Given the description of an element on the screen output the (x, y) to click on. 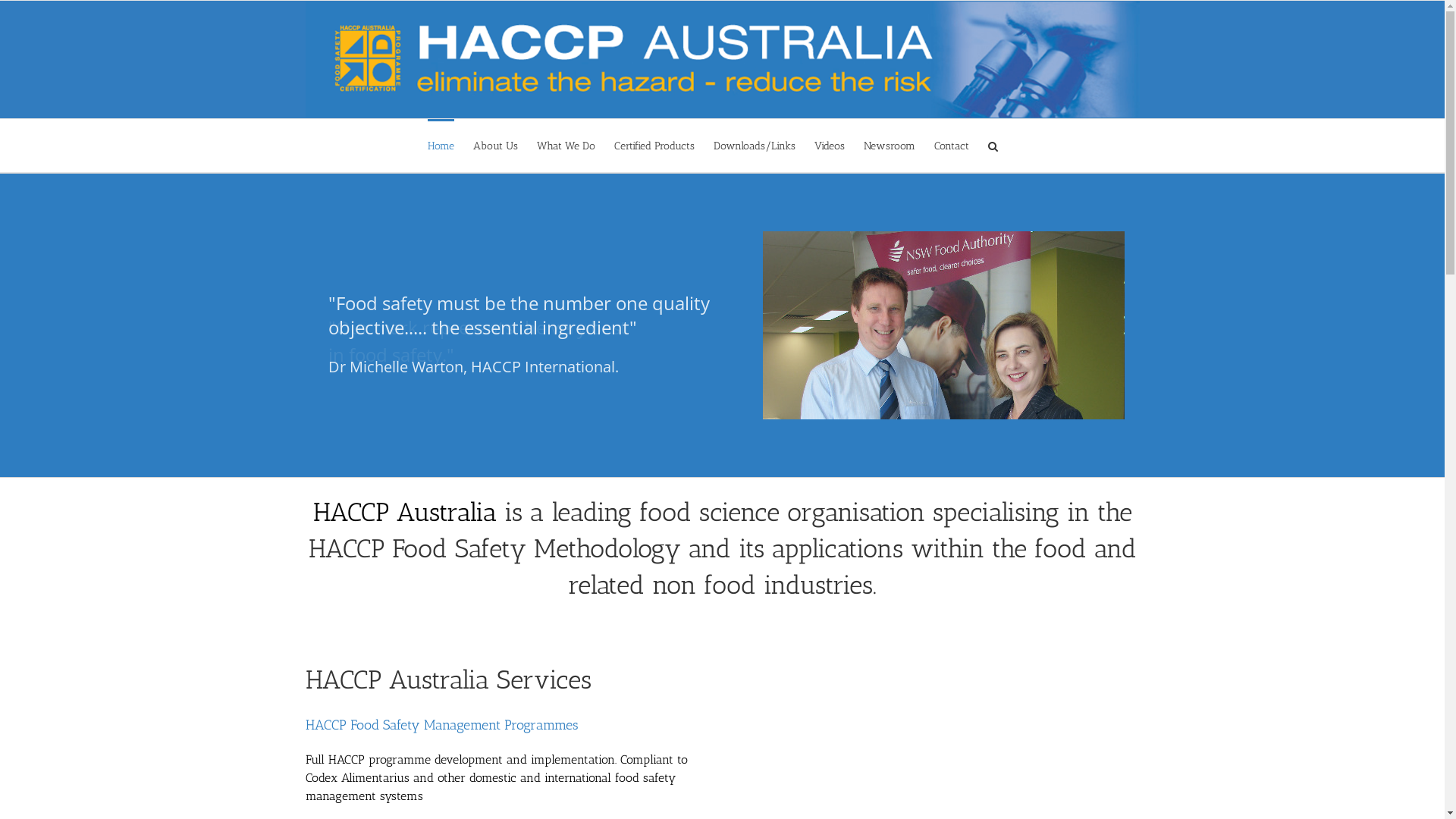
HACCP Food Safety Management Programmes Element type: text (440, 724)
Newsroom Element type: text (889, 145)
About Us Element type: text (495, 145)
Contact Element type: text (951, 145)
Videos Element type: text (829, 145)
Certified Products Element type: text (654, 145)
Downloads/Links Element type: text (754, 145)
What We Do Element type: text (565, 145)
Search Element type: hover (992, 145)
Home Element type: text (440, 145)
